Given the description of an element on the screen output the (x, y) to click on. 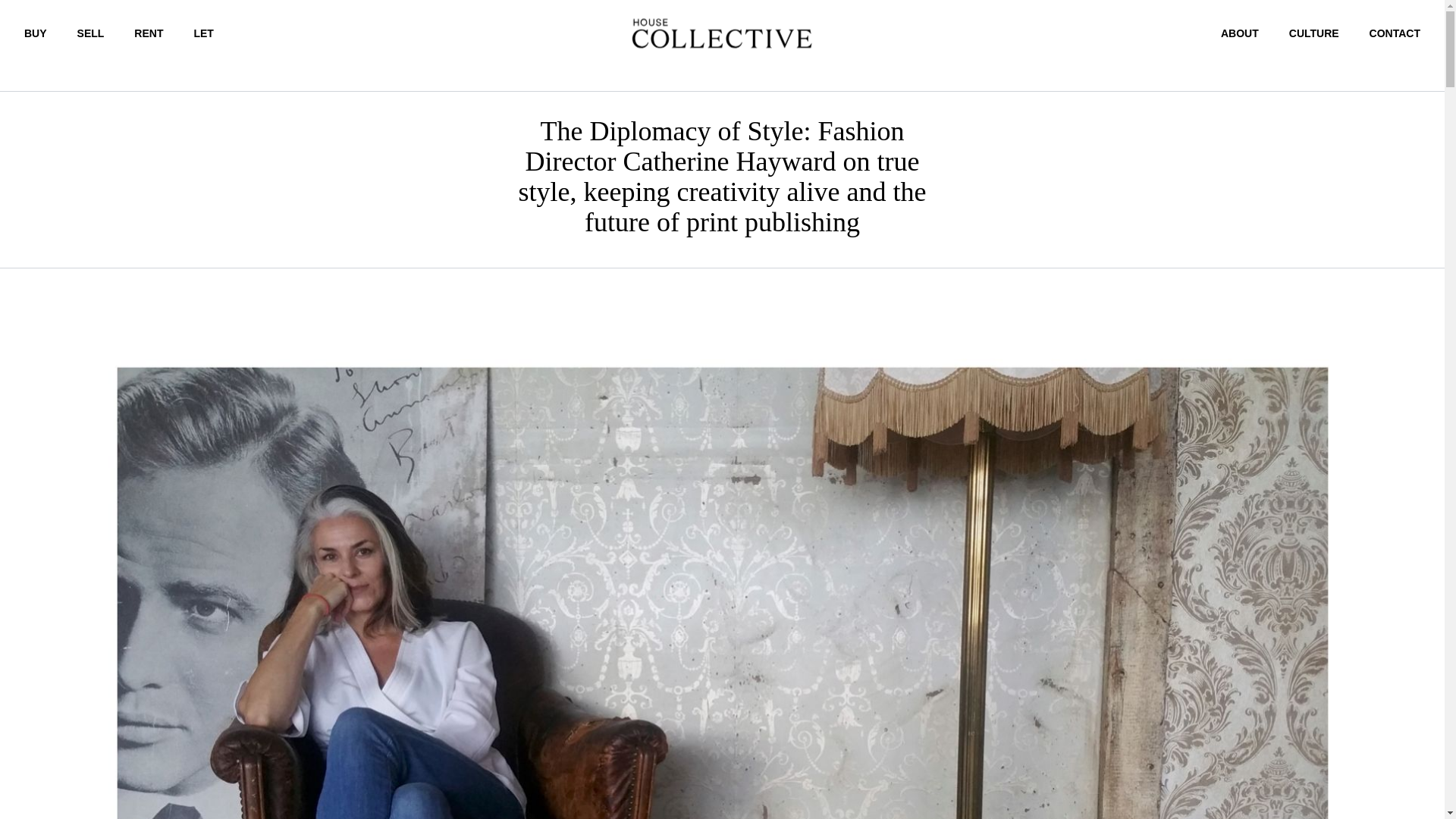
ABOUT (1240, 32)
BUY (35, 33)
CULTURE (1313, 32)
SELL (90, 33)
CONTACT (1395, 32)
LET (202, 33)
RENT (148, 33)
